Given the description of an element on the screen output the (x, y) to click on. 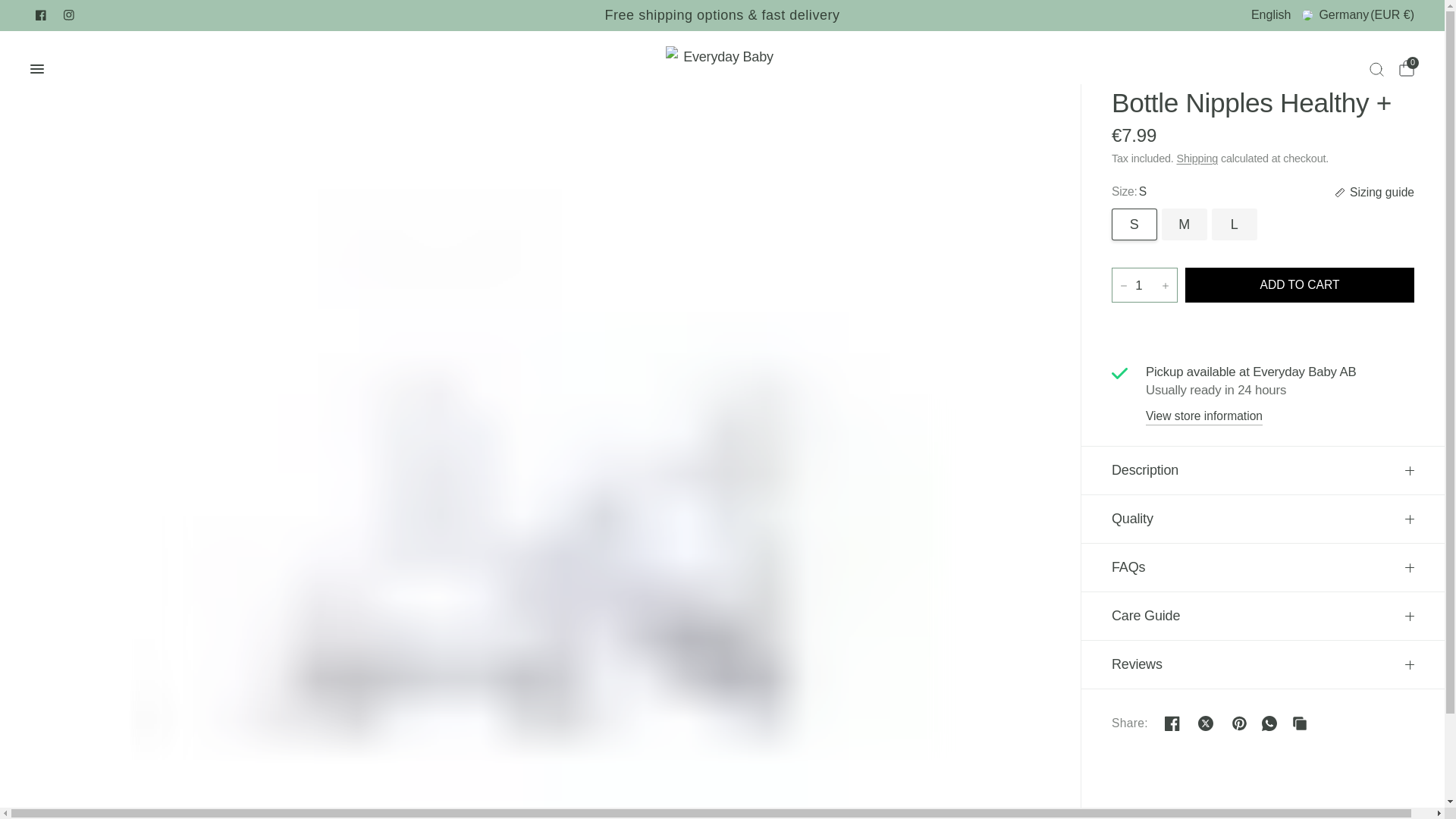
Facebook (40, 14)
English (1270, 15)
Instagram (68, 14)
